Given the description of an element on the screen output the (x, y) to click on. 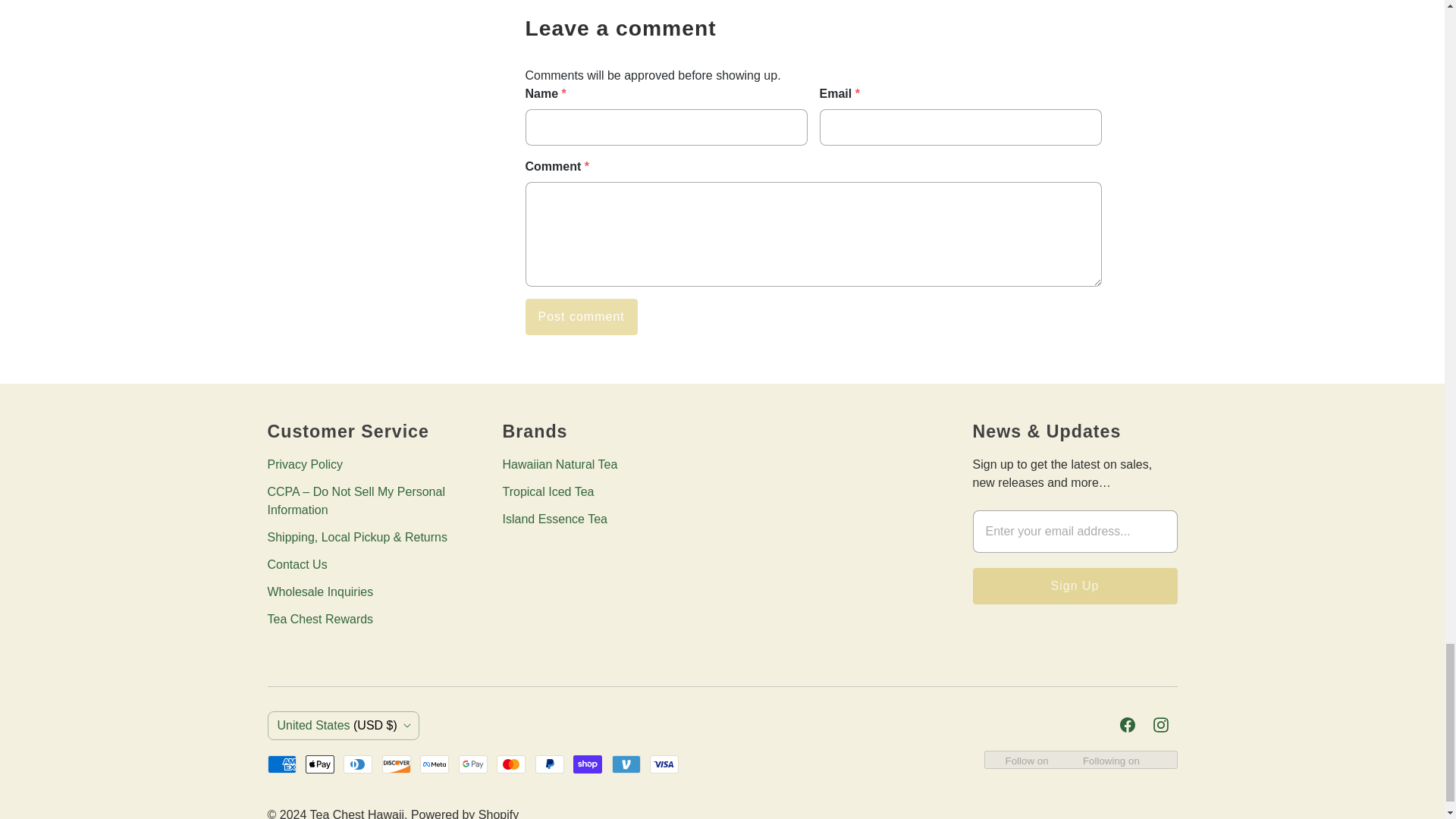
Meta Pay (434, 764)
American Express (280, 764)
Discover (395, 764)
Shop Pay (587, 764)
Sign Up (1074, 586)
PayPal (549, 764)
Google Pay (472, 764)
Apple Pay (319, 764)
Venmo (625, 764)
Post comment (580, 316)
